Given the description of an element on the screen output the (x, y) to click on. 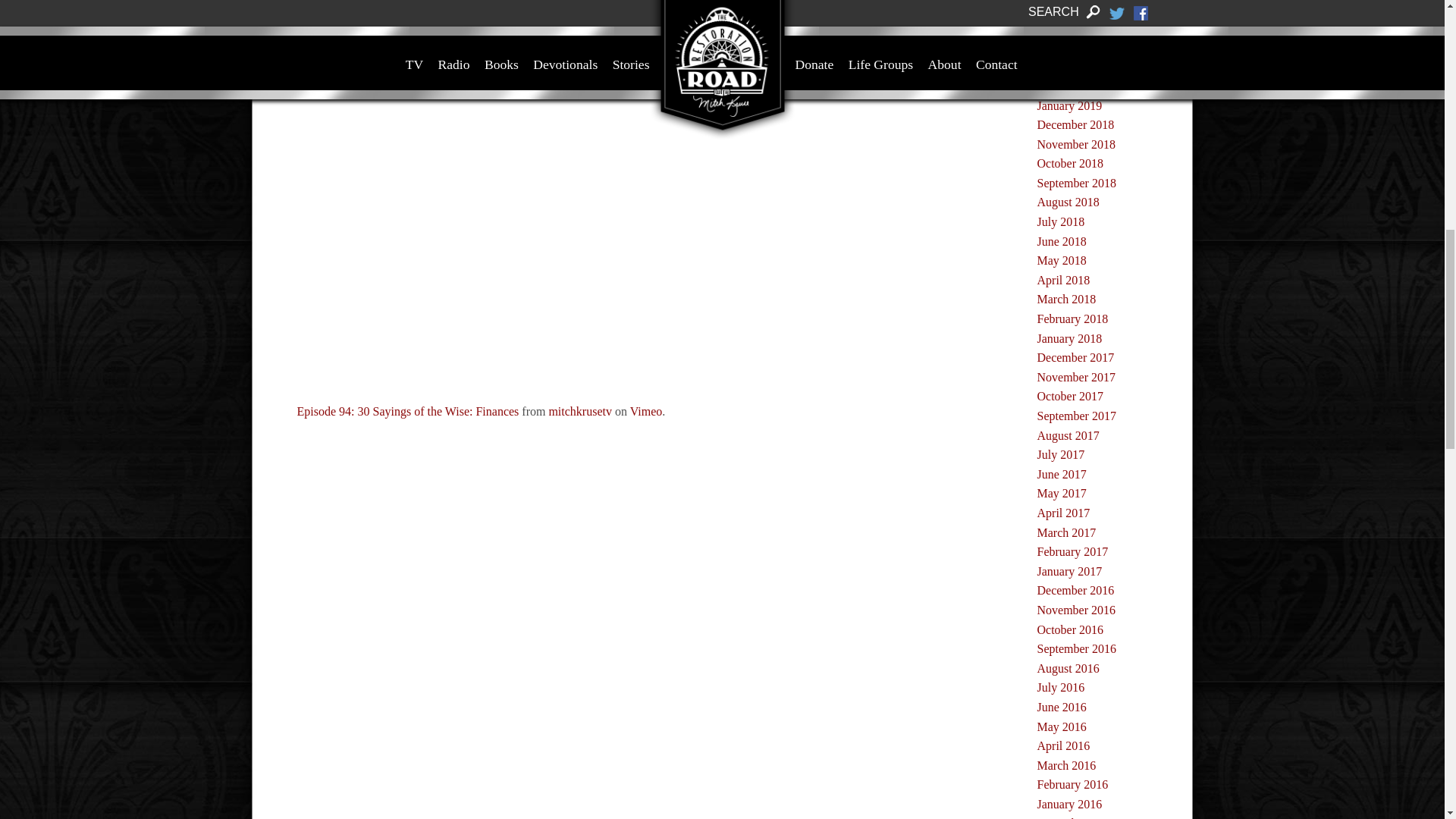
mitchkrusetv (579, 410)
Episode 94: 30 Sayings of the Wise: Finances (408, 410)
Vimeo (646, 410)
